Given the description of an element on the screen output the (x, y) to click on. 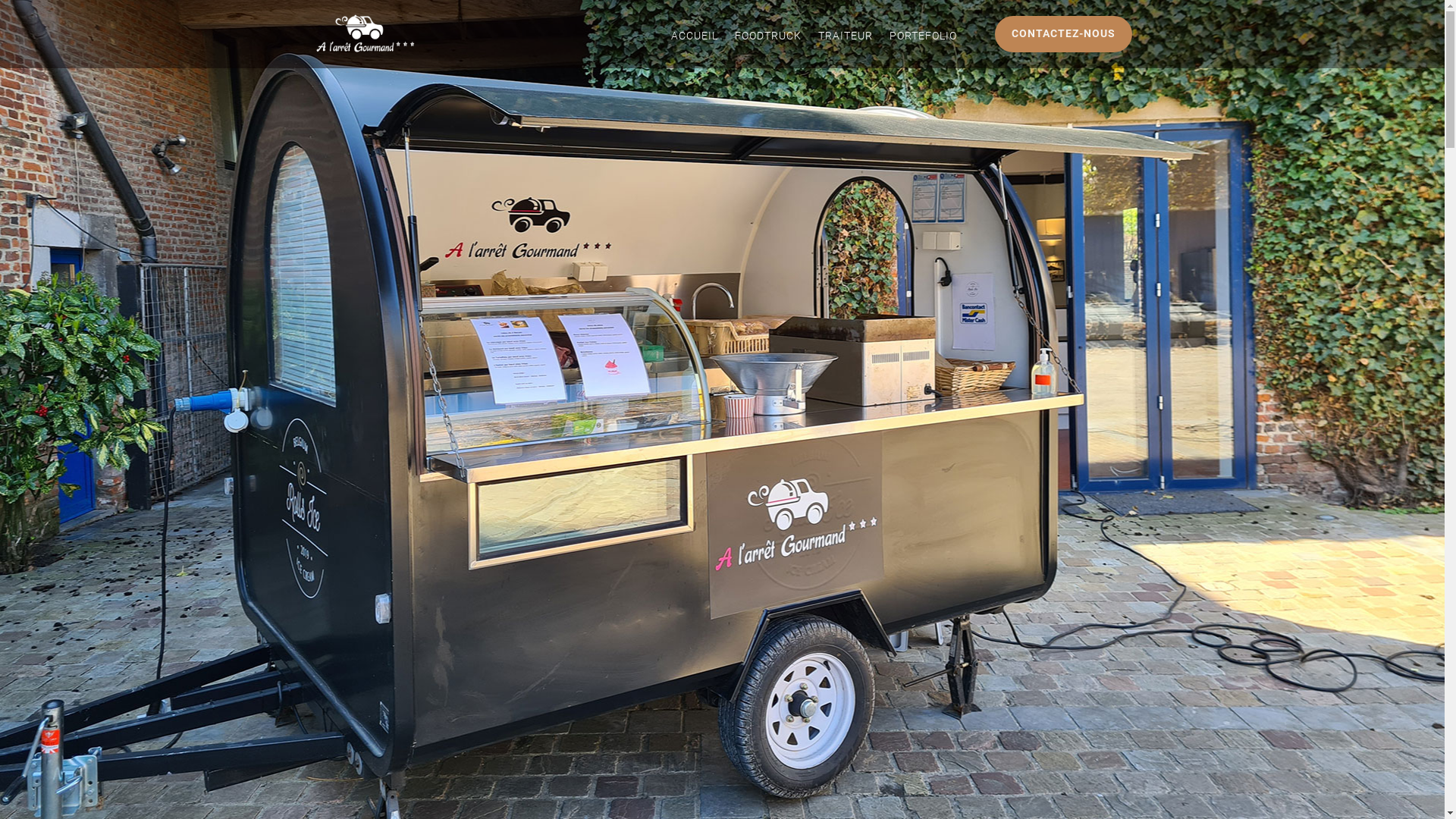
TRAITEUR Element type: text (844, 38)
ACCUEIL Element type: text (693, 38)
PORTEFOLIO Element type: text (922, 38)
logo_alarretgourmand_blanc Element type: hover (364, 33)
FOODTRUCK Element type: text (767, 38)
CONTACTEZ-NOUS Element type: text (1063, 33)
